Given the description of an element on the screen output the (x, y) to click on. 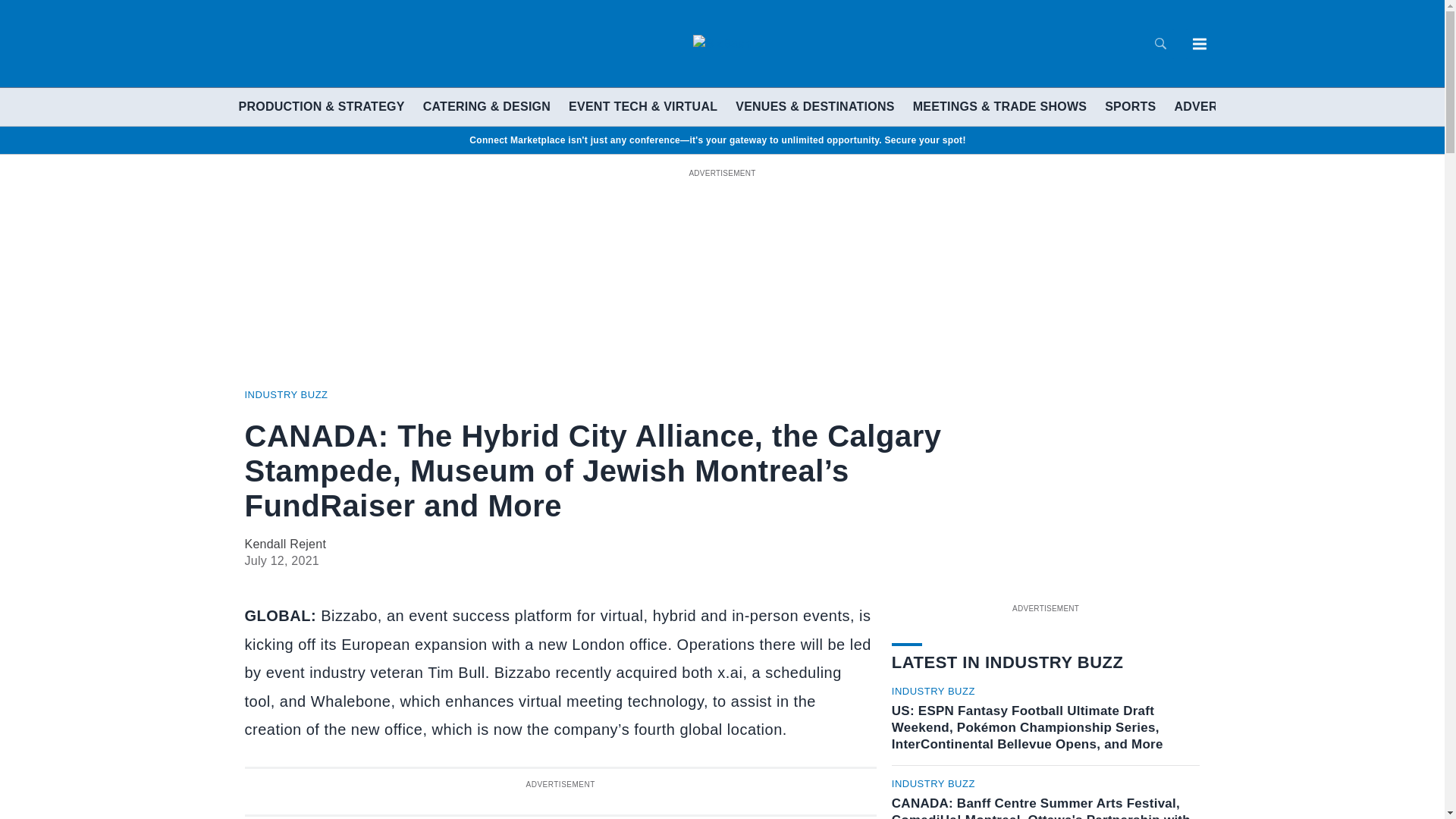
Industry Buzz (933, 691)
SPORTS (1130, 106)
Industry Buzz (933, 784)
EVENTS (1288, 106)
ADVERTISE (1208, 106)
Industry Buzz (285, 394)
